Given the description of an element on the screen output the (x, y) to click on. 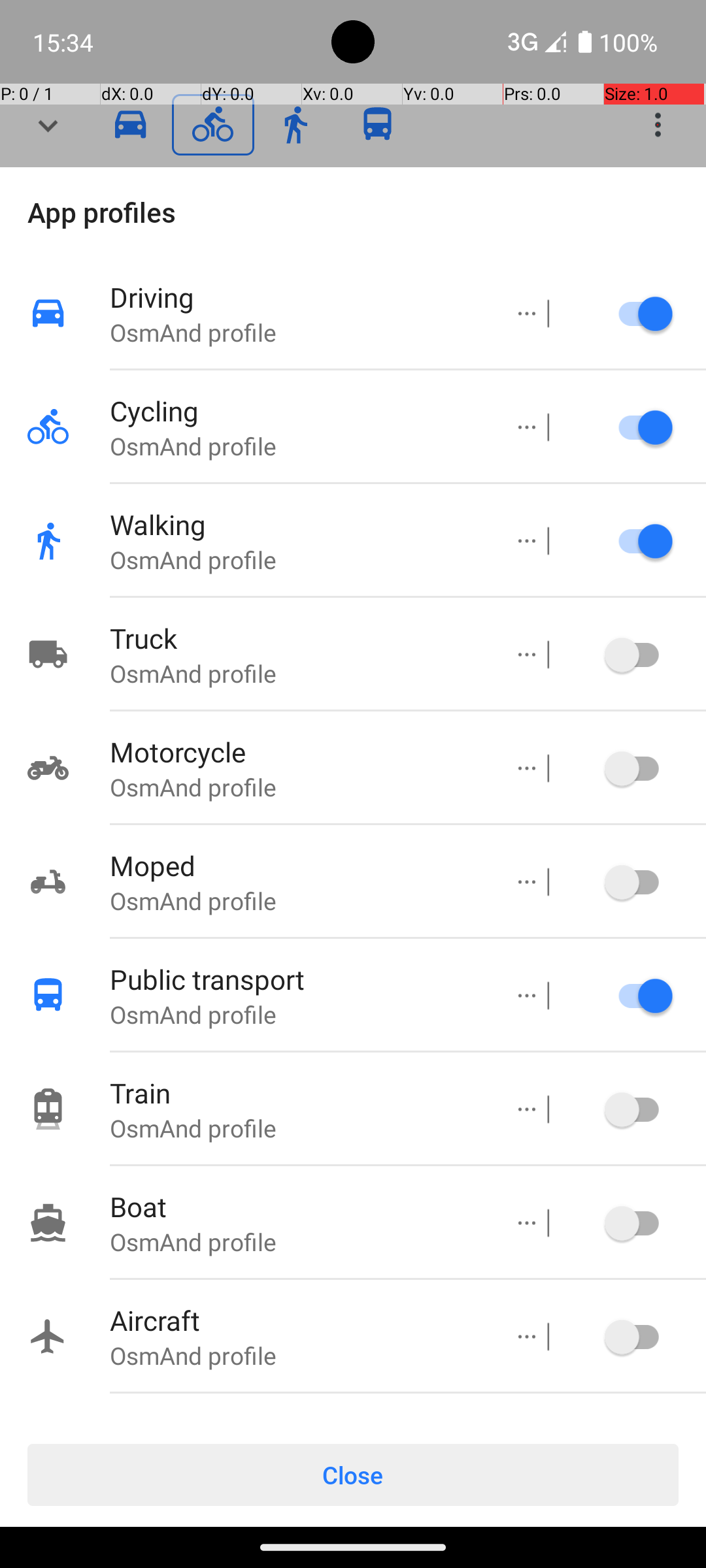
Close the dialog Element type: android.view.View (353, 125)
App profiles Element type: android.widget.TextView (353, 211)
Driving Element type: android.widget.TextView (295, 296)
OsmAnd profile Element type: android.widget.TextView (295, 331)
Cycling Element type: android.widget.TextView (295, 410)
Walking Element type: android.widget.TextView (295, 523)
Truck Element type: android.widget.TextView (295, 637)
Motorcycle Element type: android.widget.TextView (295, 751)
Moped Element type: android.widget.TextView (295, 864)
Public transport Element type: android.widget.TextView (295, 978)
Train Element type: android.widget.TextView (295, 1092)
Boat Element type: android.widget.TextView (295, 1206)
Aircraft Element type: android.widget.TextView (295, 1319)
Skiing Element type: android.widget.TextView (295, 1419)
